Given the description of an element on the screen output the (x, y) to click on. 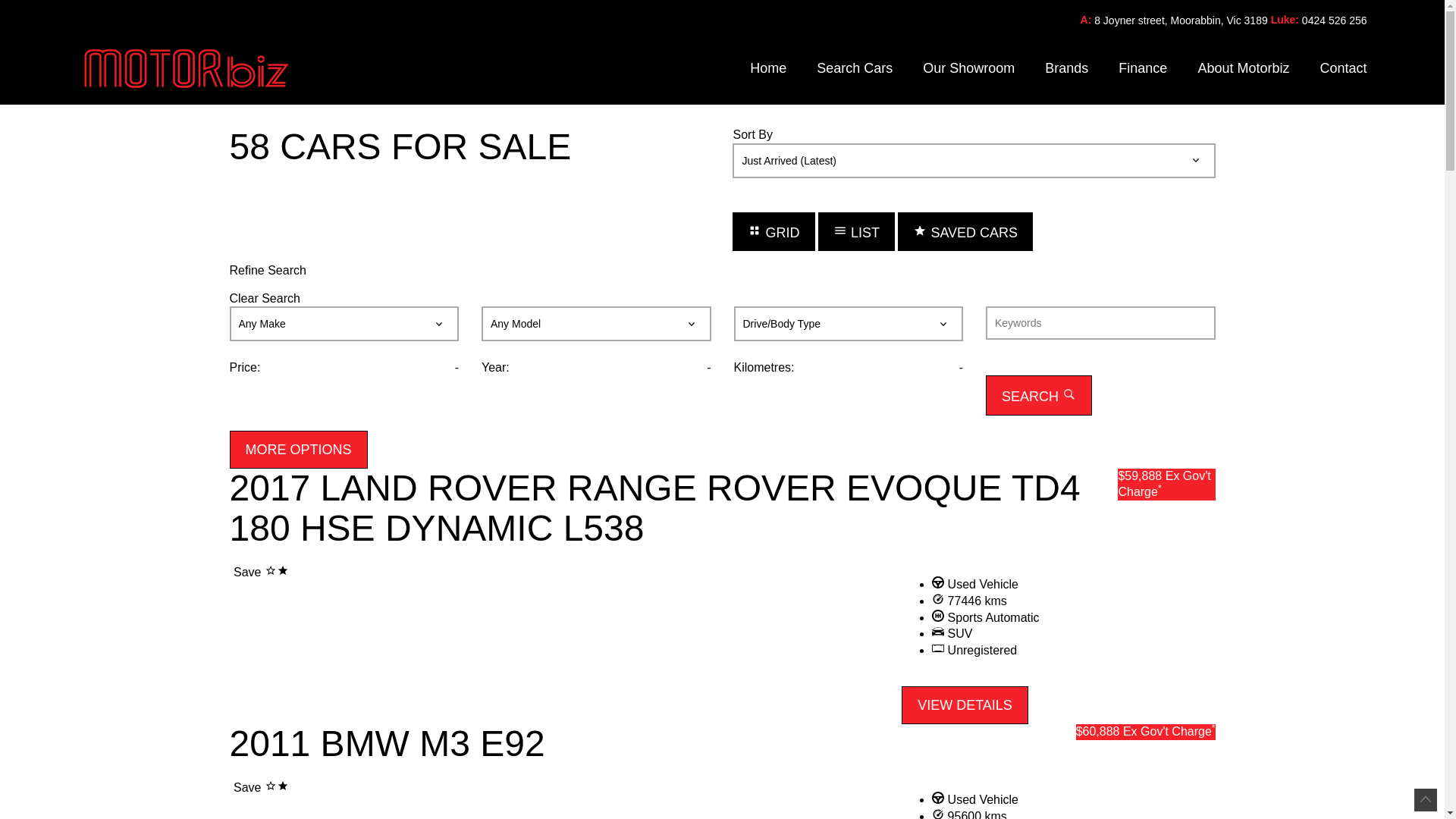
SEARCH Element type: text (1038, 395)
Finance Element type: text (1142, 68)
Brands Element type: text (1066, 68)
2011 BMW M3  E92 Element type: hover (733, 790)
2011 BMW M3  E92 Element type: hover (569, 790)
2017 Land Rover Range Rover Evoque TD4 180 HSE Dynamic L538 Element type: hover (733, 574)
2017 Land Rover Range Rover Evoque TD4 180 HSE Dynamic L538 Element type: hover (569, 574)
0424 526 256 Element type: text (1334, 20)
Home Element type: text (767, 68)
Our Showroom Element type: text (968, 68)
Contact Element type: text (1335, 68)
2017 Land Rover Range Rover Evoque TD4 180 HSE Dynamic L538 Element type: hover (229, 575)
Search Cars Element type: text (854, 68)
About Motorbiz Element type: text (1243, 68)
2011 BMW M3  E92 Element type: hover (737, 790)
2017 Land Rover Range Rover Evoque TD4 180 HSE Dynamic L538 Element type: hover (565, 574)
2011 BMW M3  E92 Element type: hover (229, 790)
2011 BMW M3  E92 Element type: hover (565, 790)
MORE OPTIONS Element type: text (298, 449)
Save Element type: text (260, 571)
2017 Land Rover Range Rover Evoque TD4 180 HSE Dynamic L538 Element type: hover (737, 574)
LIST Element type: text (856, 231)
VIEW DETAILS Element type: text (964, 705)
SAVED CARS Element type: text (964, 231)
8 Joyner street, Moorabbin, Vic 3189 Element type: text (1180, 20)
Save Element type: text (260, 787)
Clear Search Element type: text (264, 297)
GRID Element type: text (773, 231)
